Given the description of an element on the screen output the (x, y) to click on. 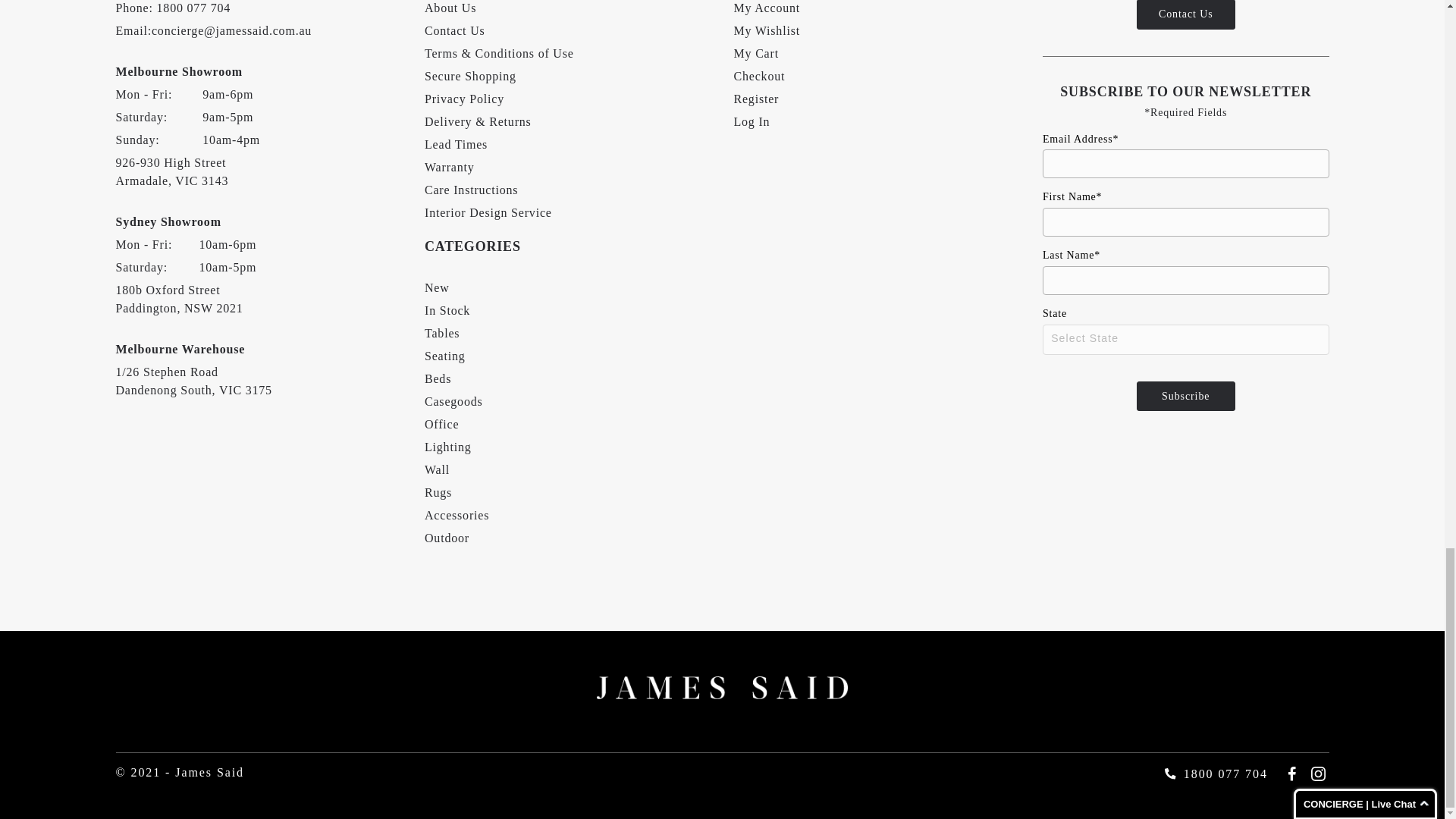
Subscribe (1185, 396)
